Given the description of an element on the screen output the (x, y) to click on. 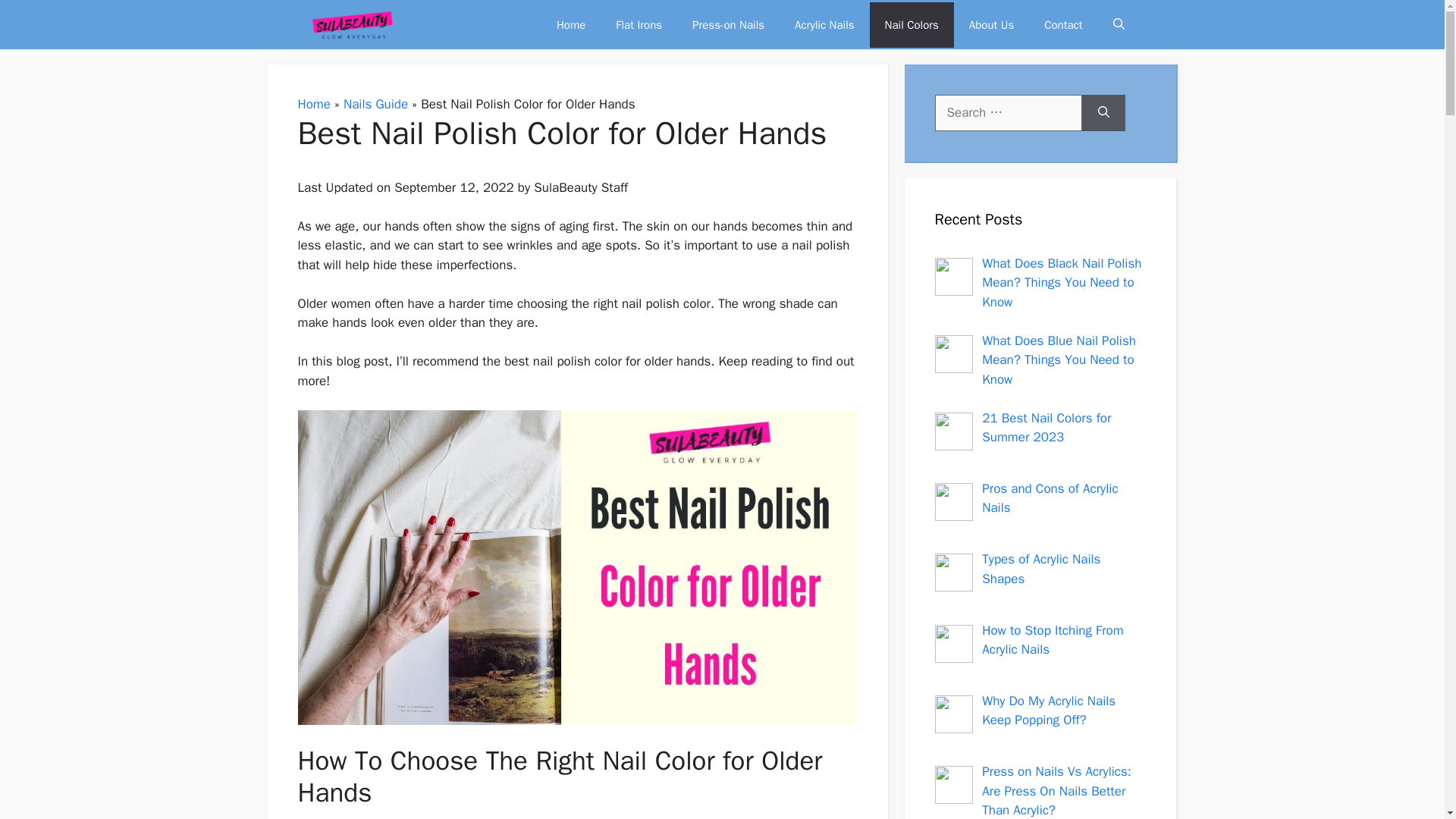
Nails Guide (375, 104)
Pros and Cons of Acrylic Nails (1049, 498)
About Us (991, 23)
Home (570, 23)
Search for: (1007, 113)
Why Do My Acrylic Nails Keep Popping Off? (1048, 710)
What Does Blue Nail Polish Mean? Things You Need to Know (1058, 359)
Contact (1063, 23)
Home (313, 104)
How to Stop Itching From Acrylic Nails (1051, 640)
Flat Irons (638, 23)
What Does Black Nail Polish Mean? Things You Need to Know (1061, 281)
Nail Colors (911, 23)
Acrylic Nails (823, 23)
